Given the description of an element on the screen output the (x, y) to click on. 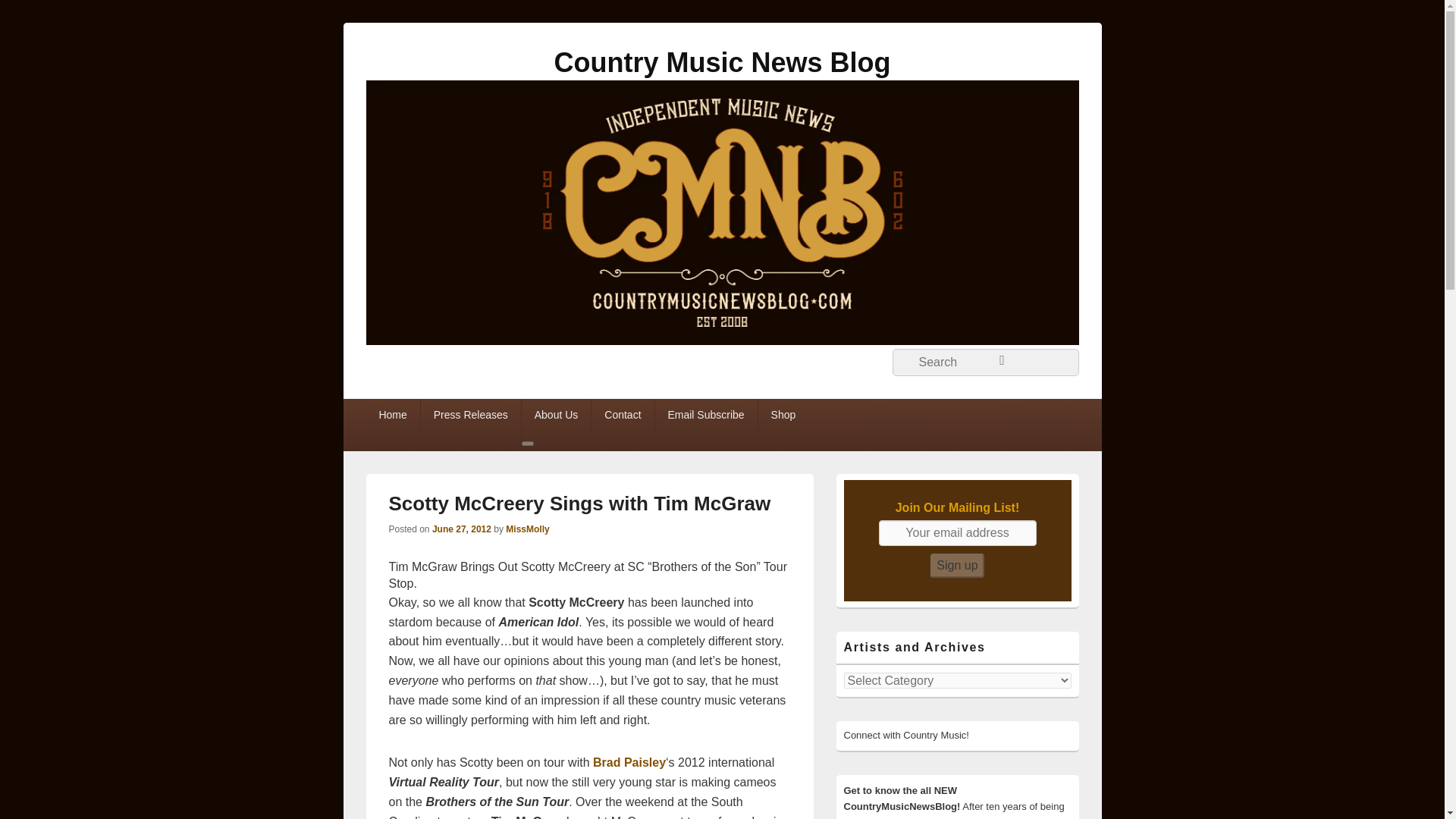
Brad Paisley (628, 762)
Brad Paisley (628, 762)
Search for: (984, 361)
Home (392, 414)
Country Music News Blog (721, 61)
About Us (556, 414)
Email Subscribe (706, 414)
expand child menu (527, 443)
Contact (622, 414)
MissMolly (526, 529)
